Given the description of an element on the screen output the (x, y) to click on. 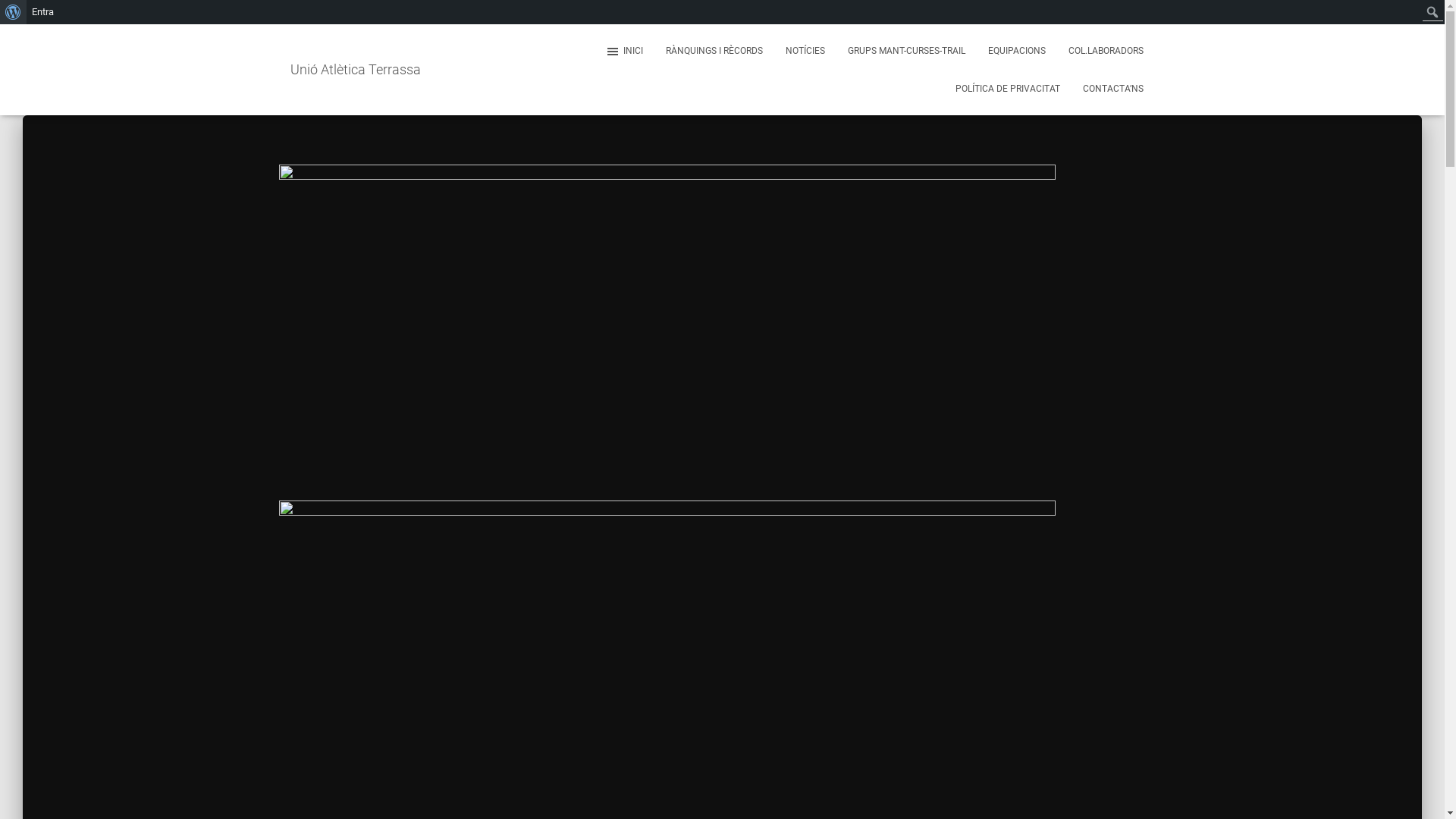
EQUIPACIONS Element type: text (1016, 50)
Cerca Element type: text (11, 24)
GRUPS MANT-CURSES-TRAIL Element type: text (905, 50)
COL.LABORADORS Element type: text (1105, 50)
INICI Element type: text (623, 50)
Entra Element type: text (42, 12)
